Given the description of an element on the screen output the (x, y) to click on. 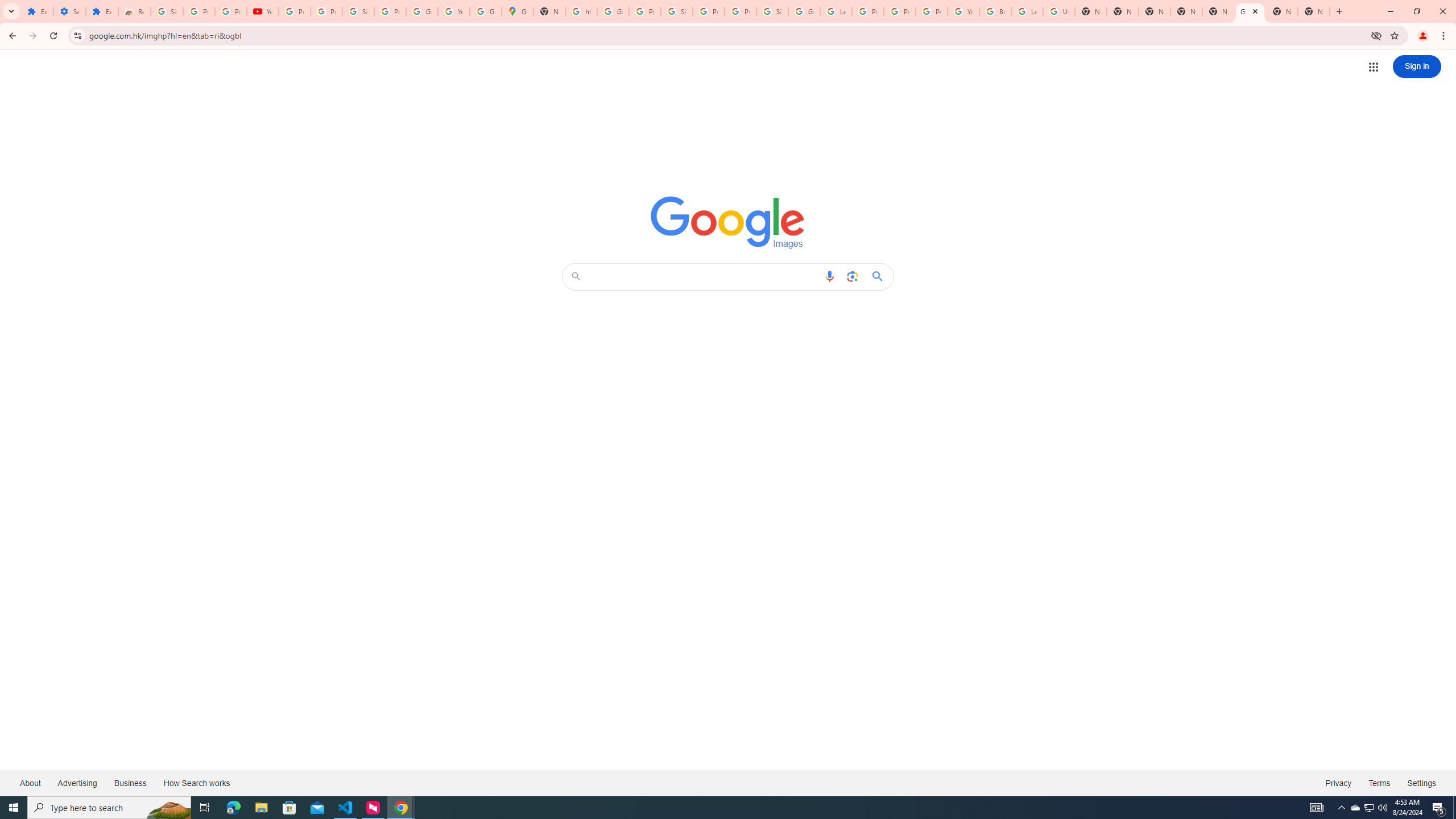
Google Account (421, 11)
YouTube (453, 11)
Advertising (77, 782)
New Tab (1154, 11)
Google Images (727, 222)
Sign in - Google Accounts (358, 11)
Reviews: Helix Fruit Jump Arcade Game (134, 11)
